Given the description of an element on the screen output the (x, y) to click on. 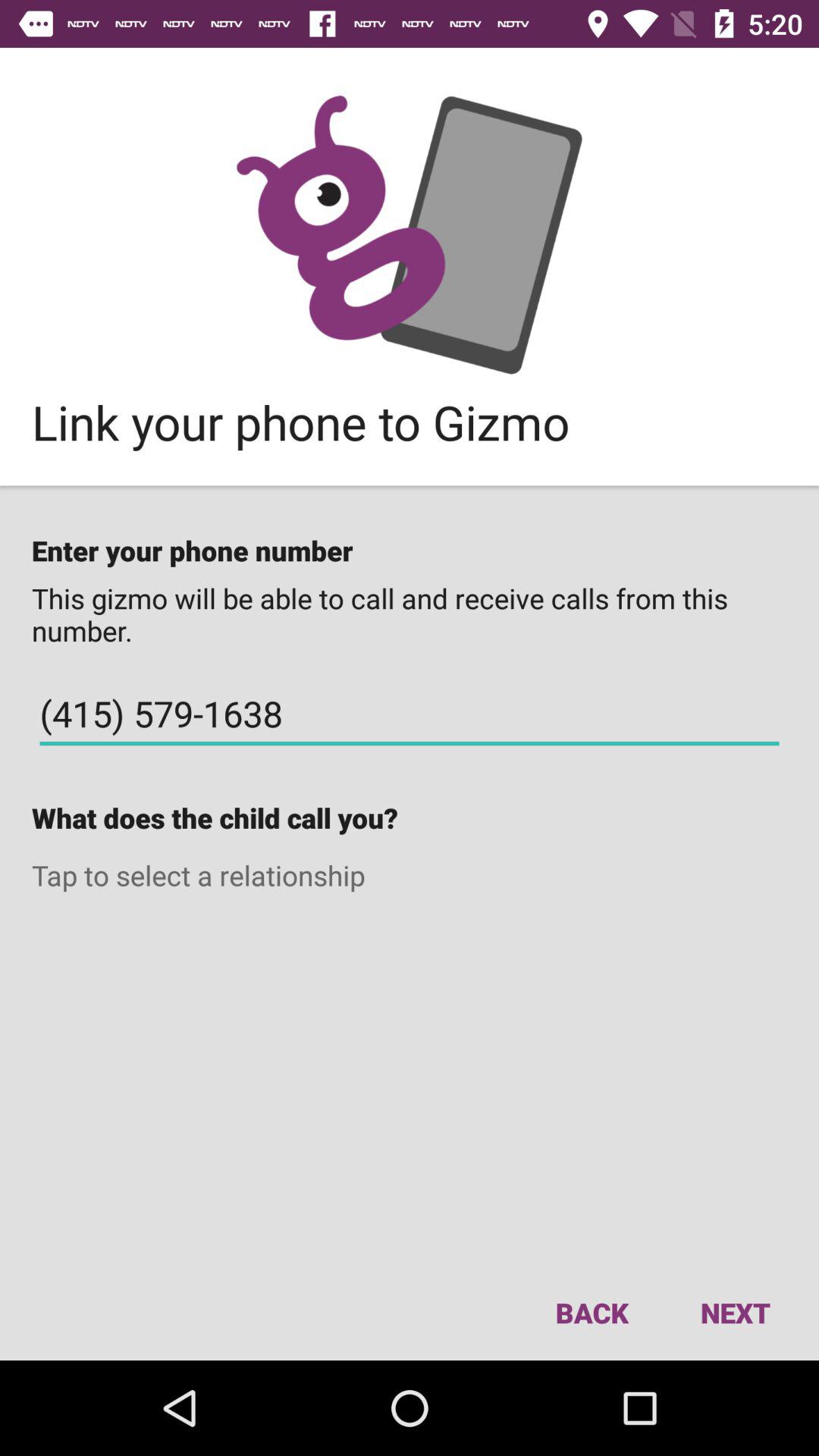
choose the item above the link your phone icon (409, 234)
